Given the description of an element on the screen output the (x, y) to click on. 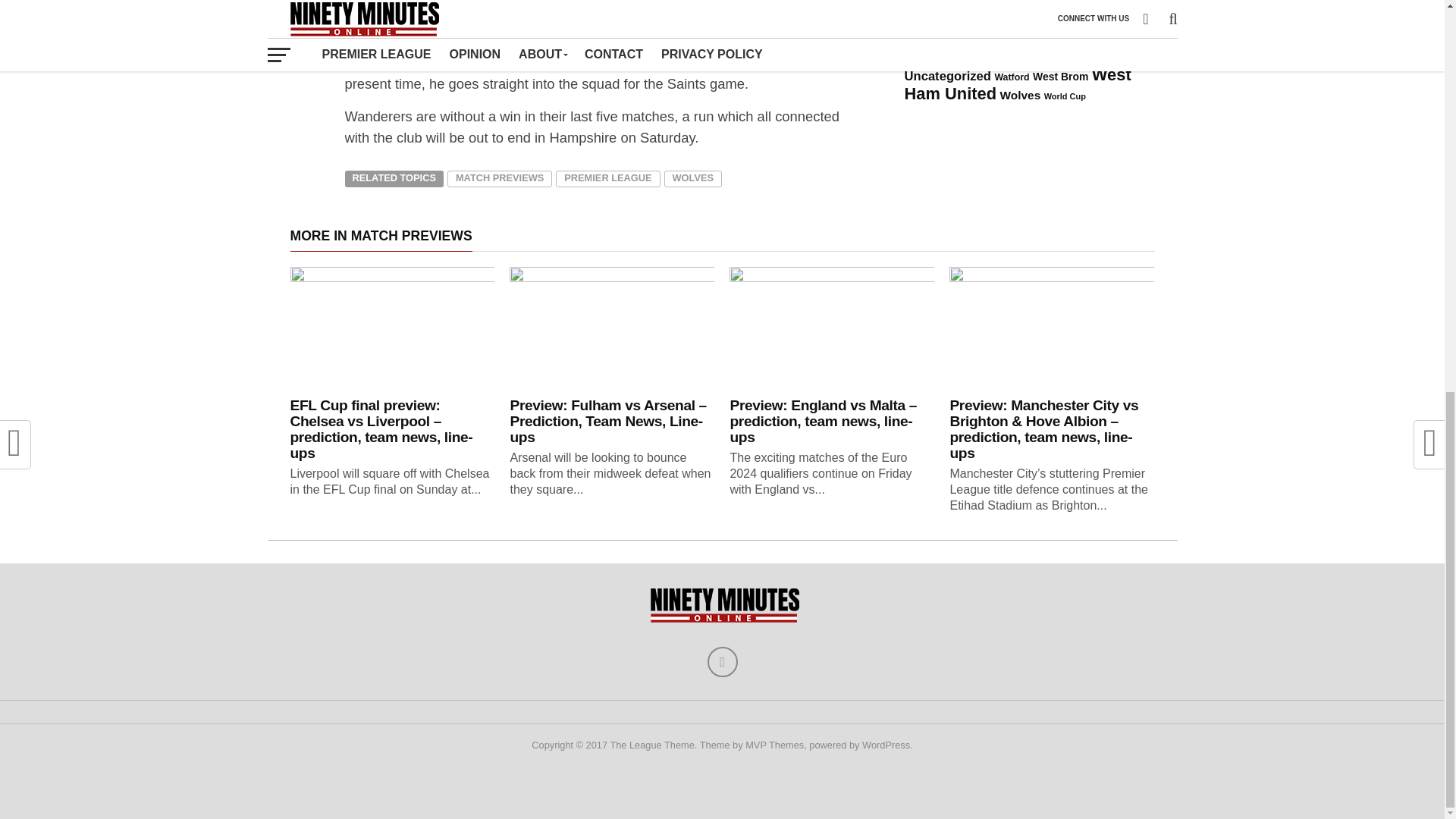
WOLVES (692, 178)
PREMIER LEAGUE (607, 178)
MATCH PREVIEWS (498, 178)
